Given the description of an element on the screen output the (x, y) to click on. 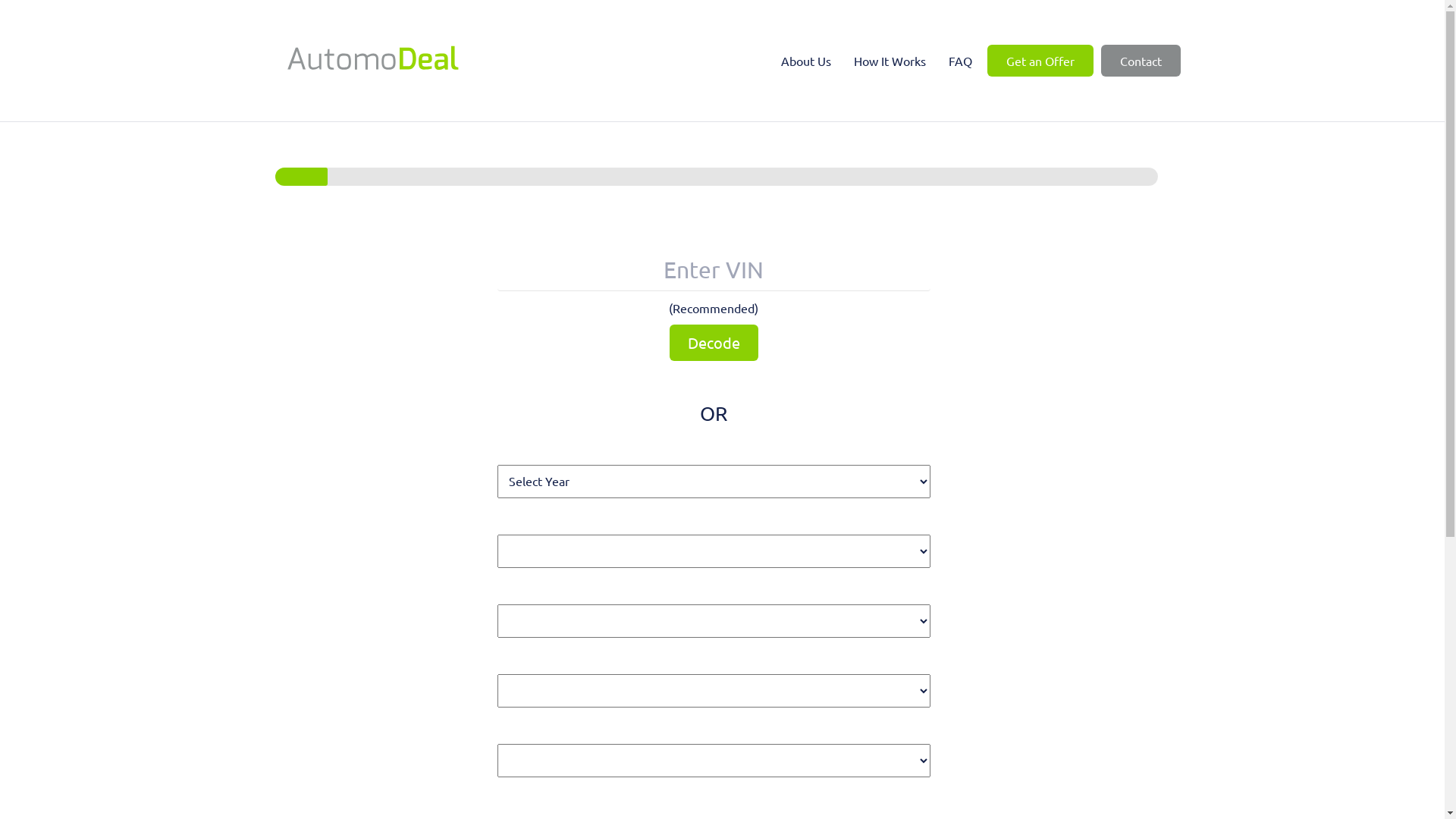
FAQ Element type: text (960, 60)
Decode Element type: text (713, 342)
How It Works Element type: text (889, 60)
About Us Element type: text (805, 60)
Contact Element type: text (1140, 60)
Get an Offer Element type: text (1040, 60)
